Given the description of an element on the screen output the (x, y) to click on. 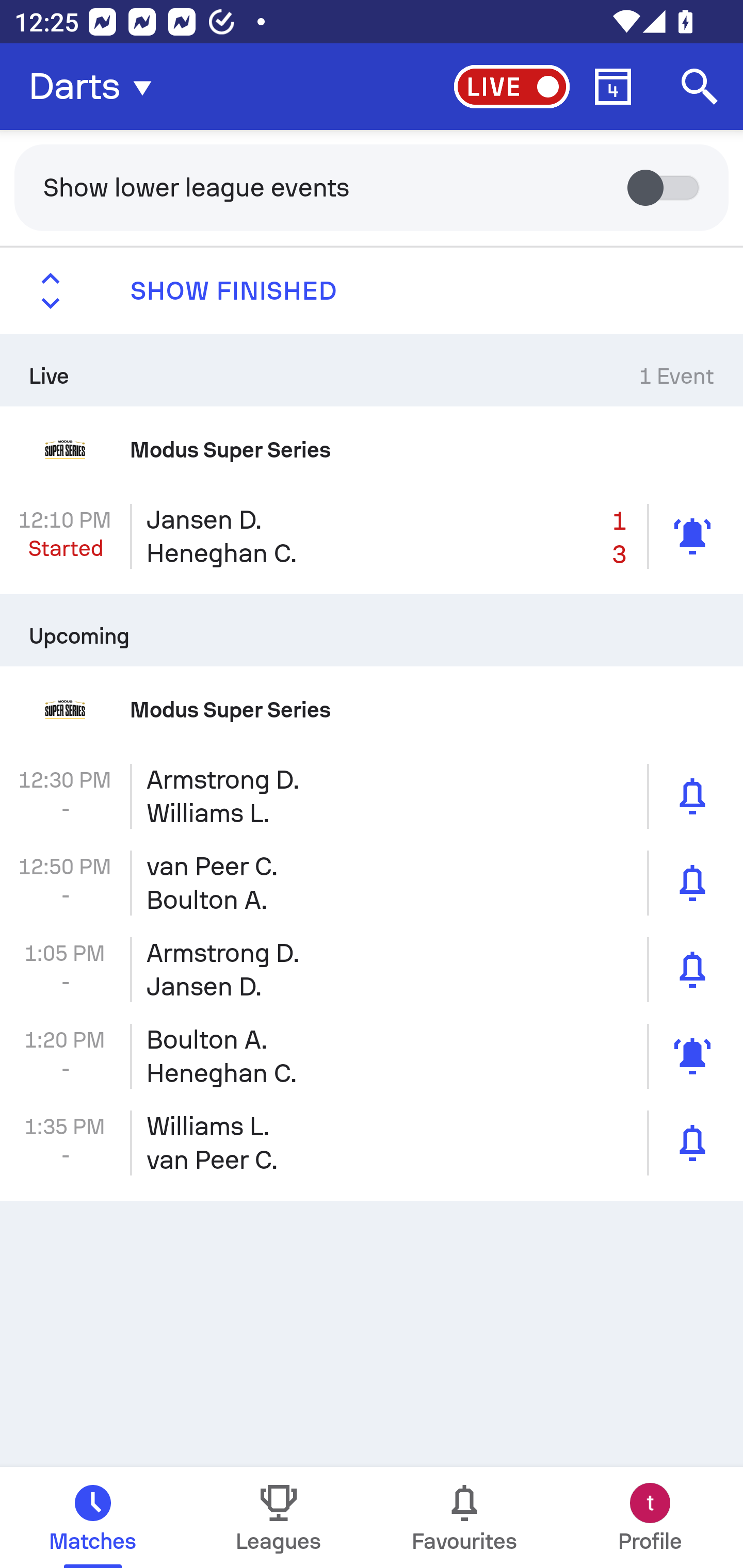
Darts (96, 86)
Calendar (612, 86)
Search (699, 86)
Show lower league events (371, 187)
SHOW FINISHED (371, 290)
Live 1 Event (371, 369)
Modus Super Series (371, 449)
12:10 PM Started Jansen D. 1 Heneghan C. 3 (371, 536)
Upcoming (371, 630)
Modus Super Series (371, 709)
12:30 PM - Armstrong D. Williams L. (371, 796)
12:50 PM - van Peer C. Boulton A. (371, 883)
1:05 PM - Armstrong D. Jansen D. (371, 969)
1:20 PM - Boulton A. Heneghan C. (371, 1055)
1:35 PM - Williams L. van Peer C. (371, 1142)
Leagues (278, 1517)
Favourites (464, 1517)
Profile (650, 1517)
